Given the description of an element on the screen output the (x, y) to click on. 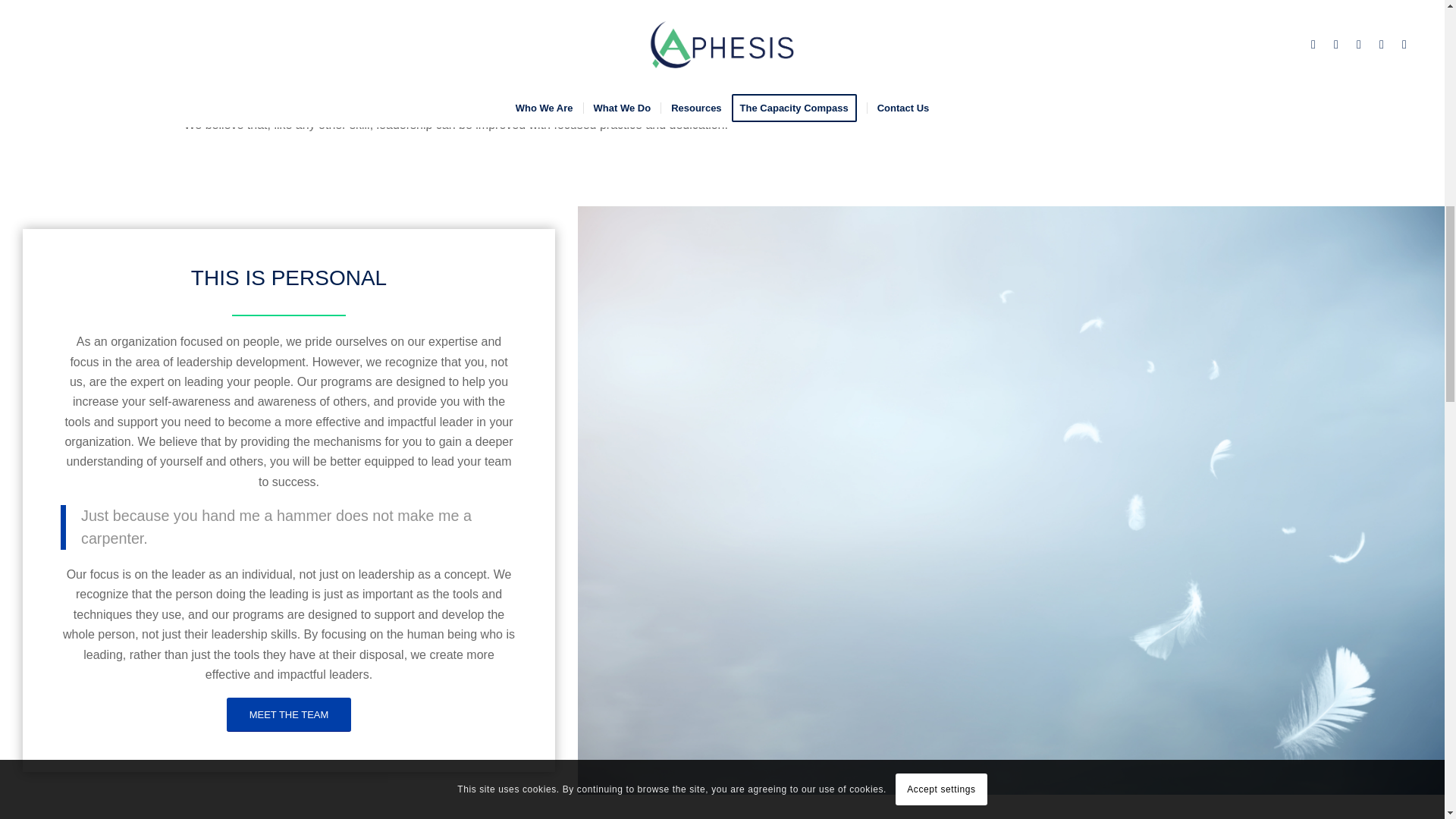
MEET THE TEAM (289, 714)
